Given the description of an element on the screen output the (x, y) to click on. 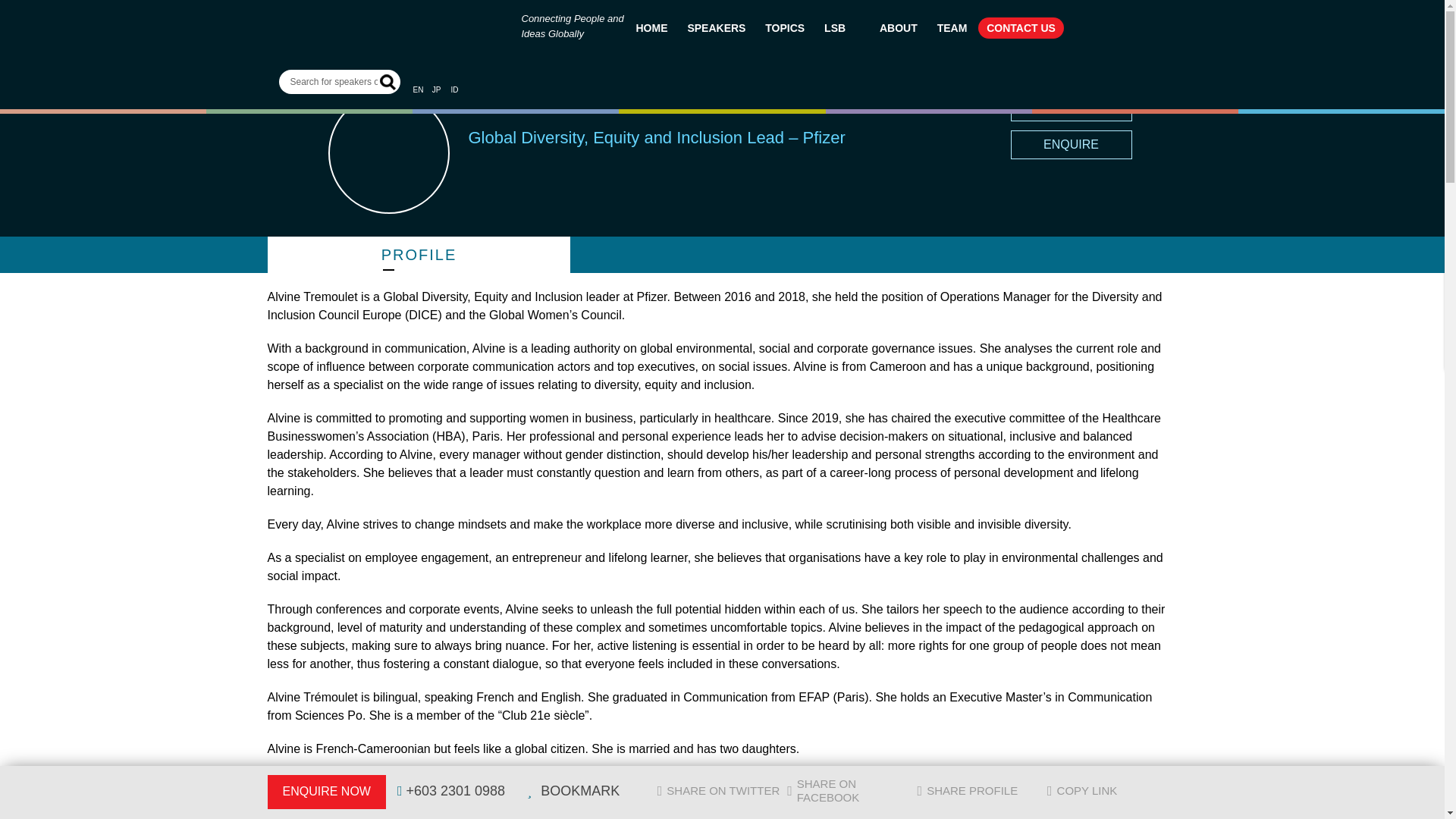
SPEAKERS (716, 27)
HOME (652, 27)
